Given the description of an element on the screen output the (x, y) to click on. 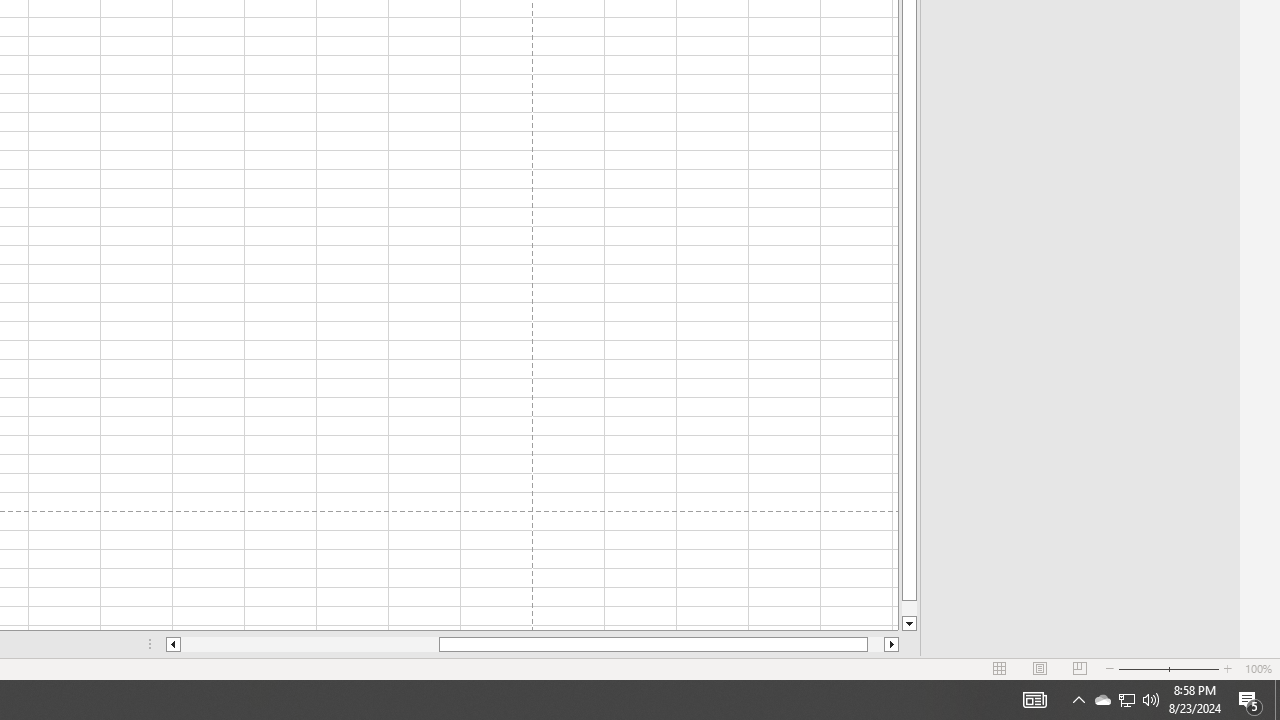
User Promoted Notification Area (1102, 699)
Q2790: 100% (1126, 699)
Notification Chevron (1151, 699)
AutomationID: 4105 (1078, 699)
